Given the description of an element on the screen output the (x, y) to click on. 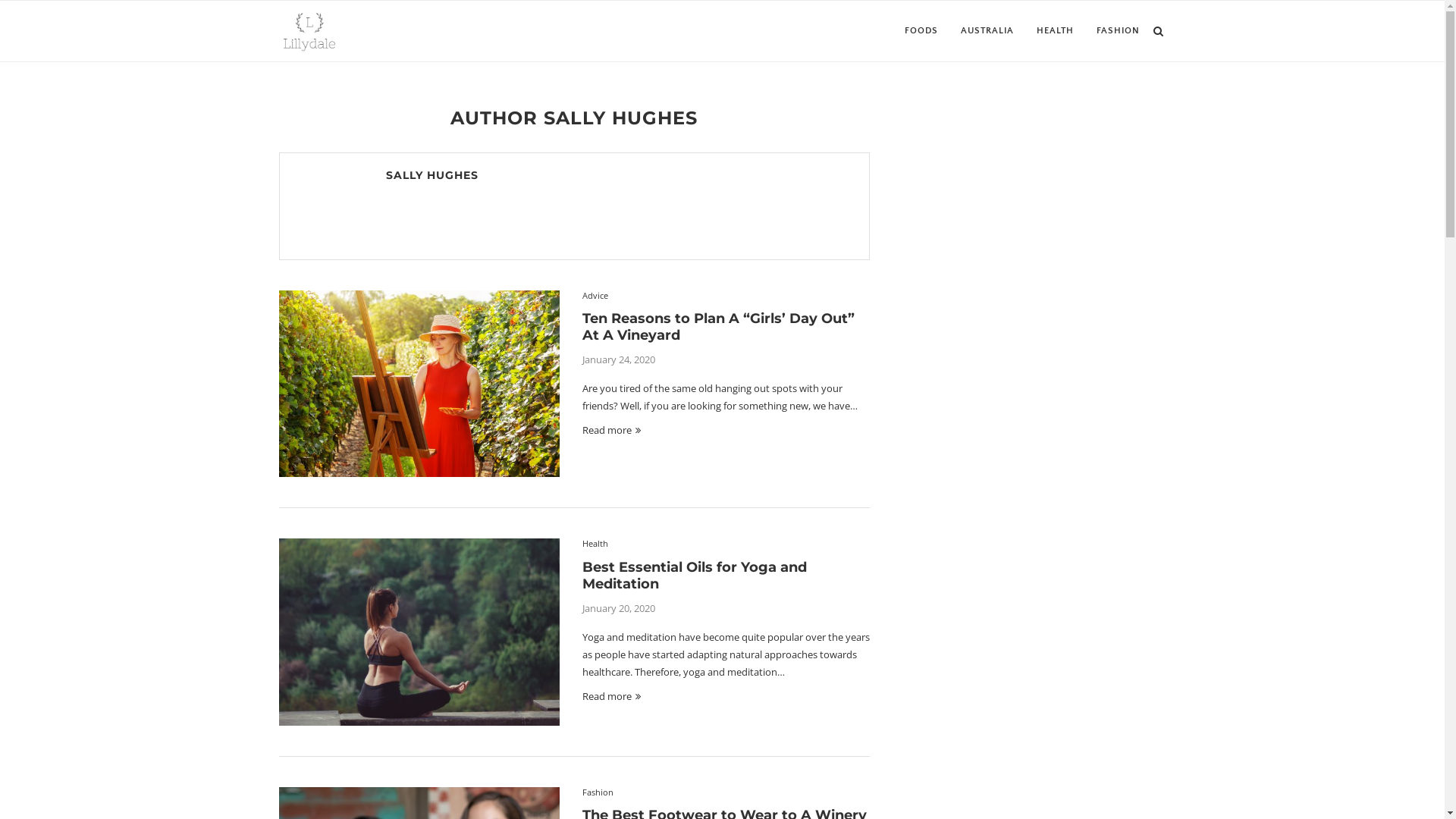
Health Element type: text (595, 543)
FOODS Element type: text (920, 30)
Fashion Element type: text (597, 792)
Read more Element type: text (611, 695)
Best Essential Oils for Yoga and Meditation Element type: text (694, 575)
Read more Element type: text (611, 429)
Advice Element type: text (595, 295)
SALLY HUGHES Element type: text (431, 175)
AUSTRALIA Element type: text (986, 30)
Best Essential Oils for Yoga and Meditation Element type: hover (419, 631)
FASHION Element type: text (1117, 30)
HEALTH Element type: text (1054, 30)
